Given the description of an element on the screen output the (x, y) to click on. 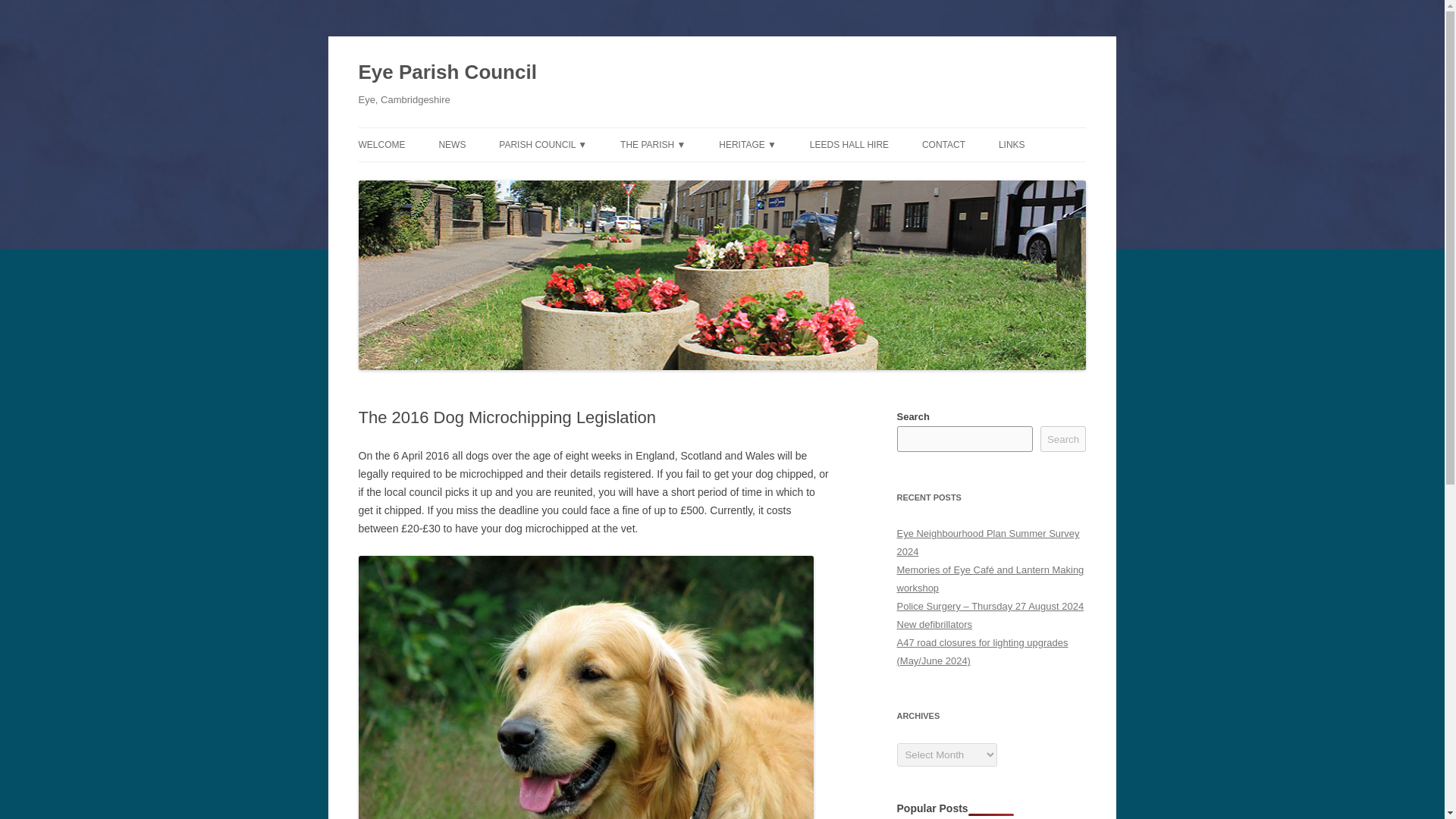
PARISH COUNCIL (574, 176)
THE PARISH AND BEYOND (695, 176)
Eye Parish Council (446, 72)
WELCOME (381, 144)
